Given the description of an element on the screen output the (x, y) to click on. 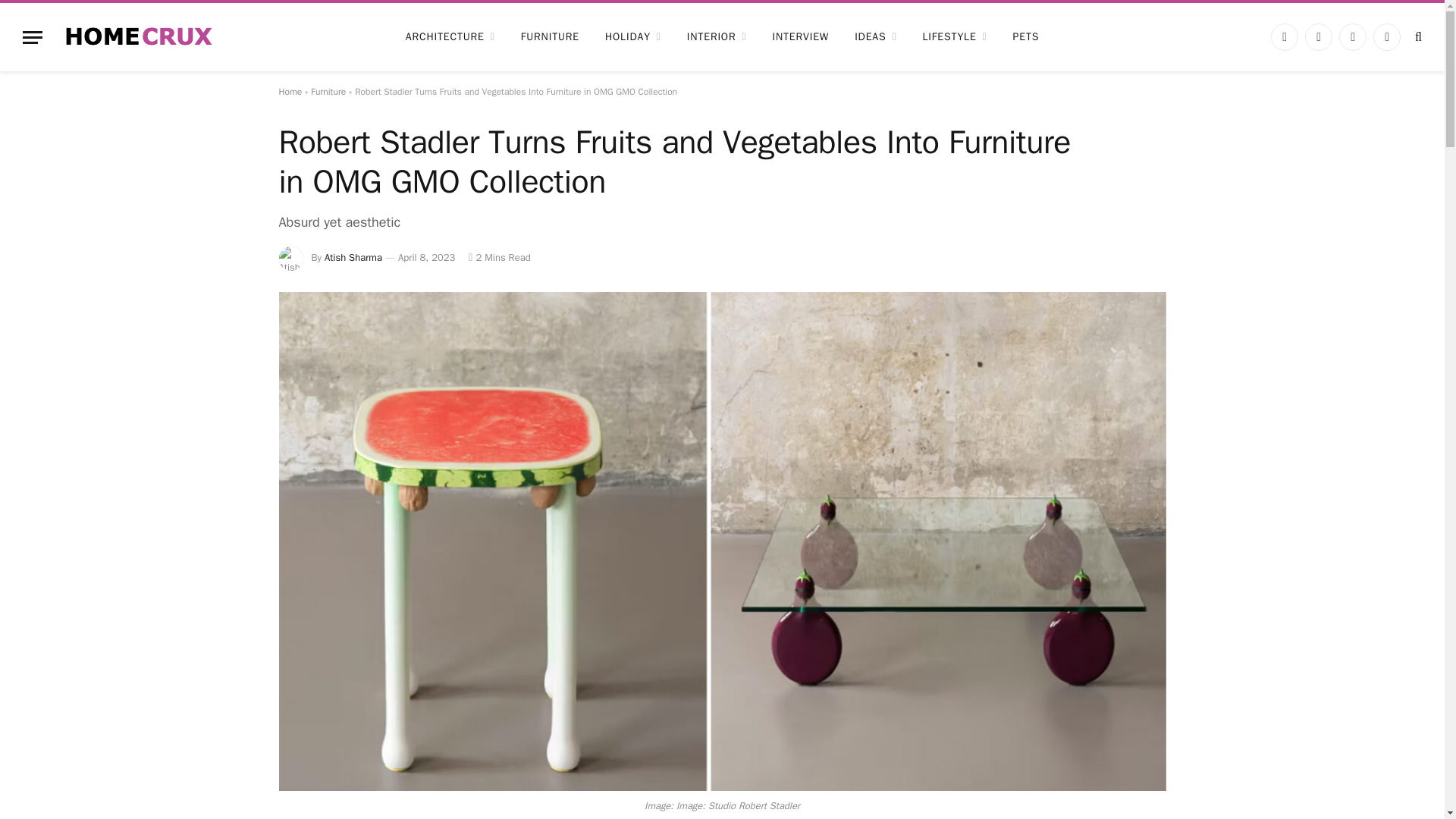
Homecrux (138, 36)
